Given the description of an element on the screen output the (x, y) to click on. 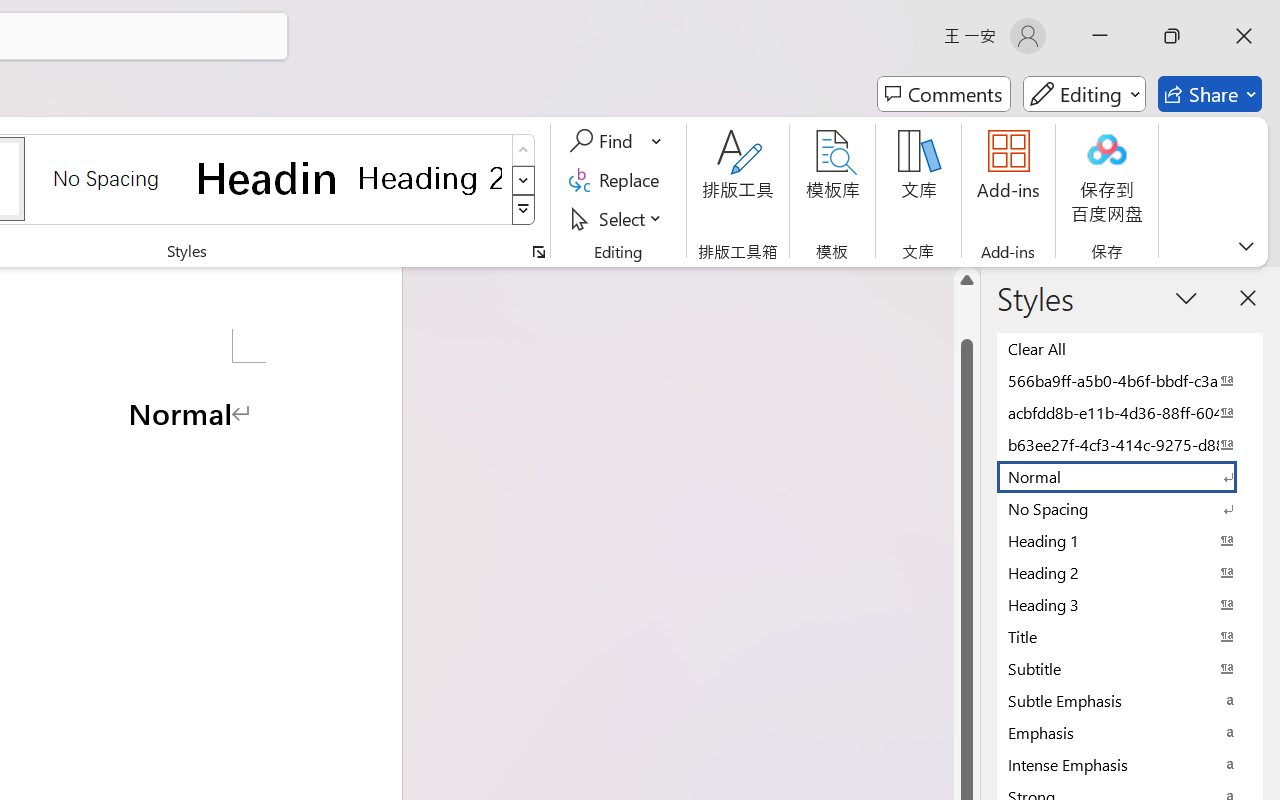
Close this message (1263, 89)
